Given the description of an element on the screen output the (x, y) to click on. 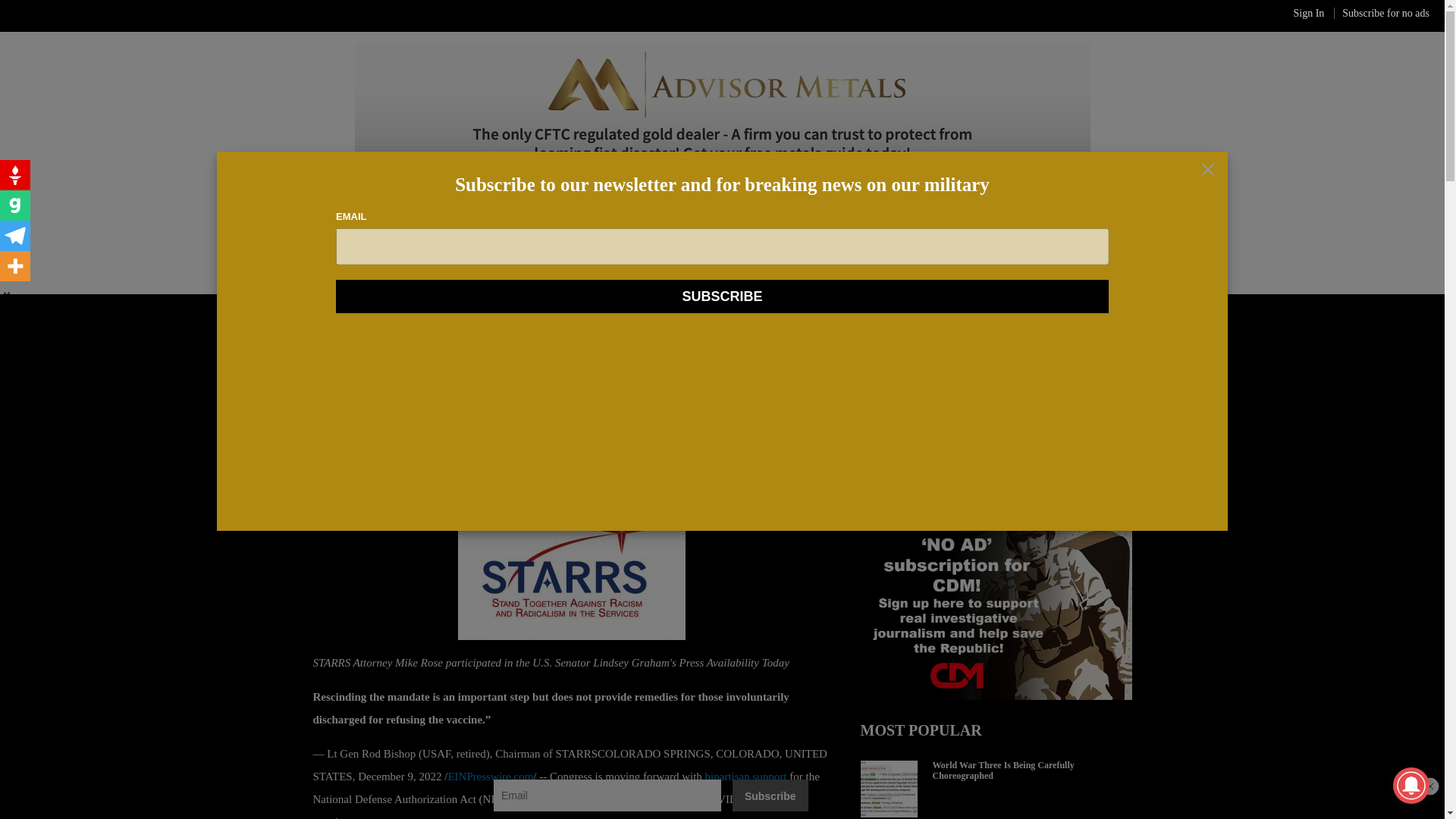
More (15, 265)
Staff Writer (353, 448)
SPACE FORCE (425, 246)
EINPresswire.com (489, 776)
MARINE CORPS (1064, 246)
Subscribe (770, 795)
AIR FORCE (327, 246)
PENTAGON (343, 338)
Gettr (15, 174)
COAST GUARD (1171, 246)
